Given the description of an element on the screen output the (x, y) to click on. 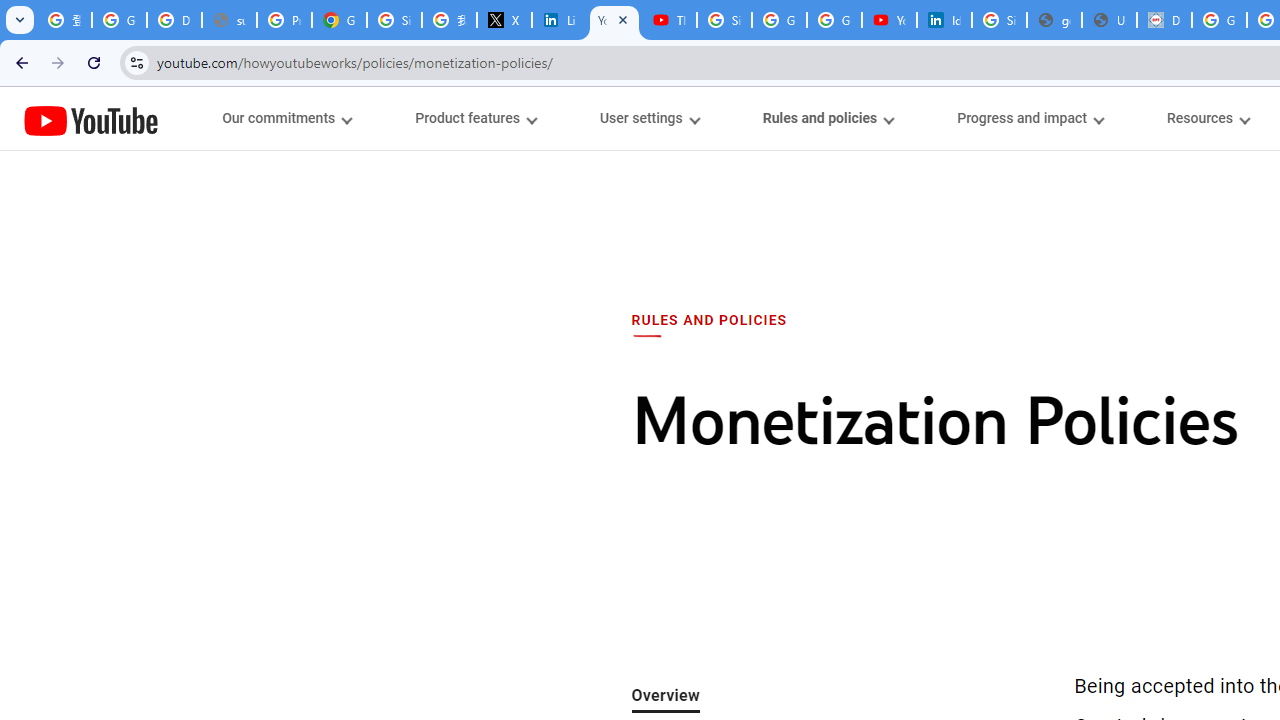
Our commitments menupopup (286, 118)
YouTube (91, 120)
X (504, 20)
google_privacy_policy_en.pdf (1053, 20)
Data Privacy Framework (1163, 20)
